Given the description of an element on the screen output the (x, y) to click on. 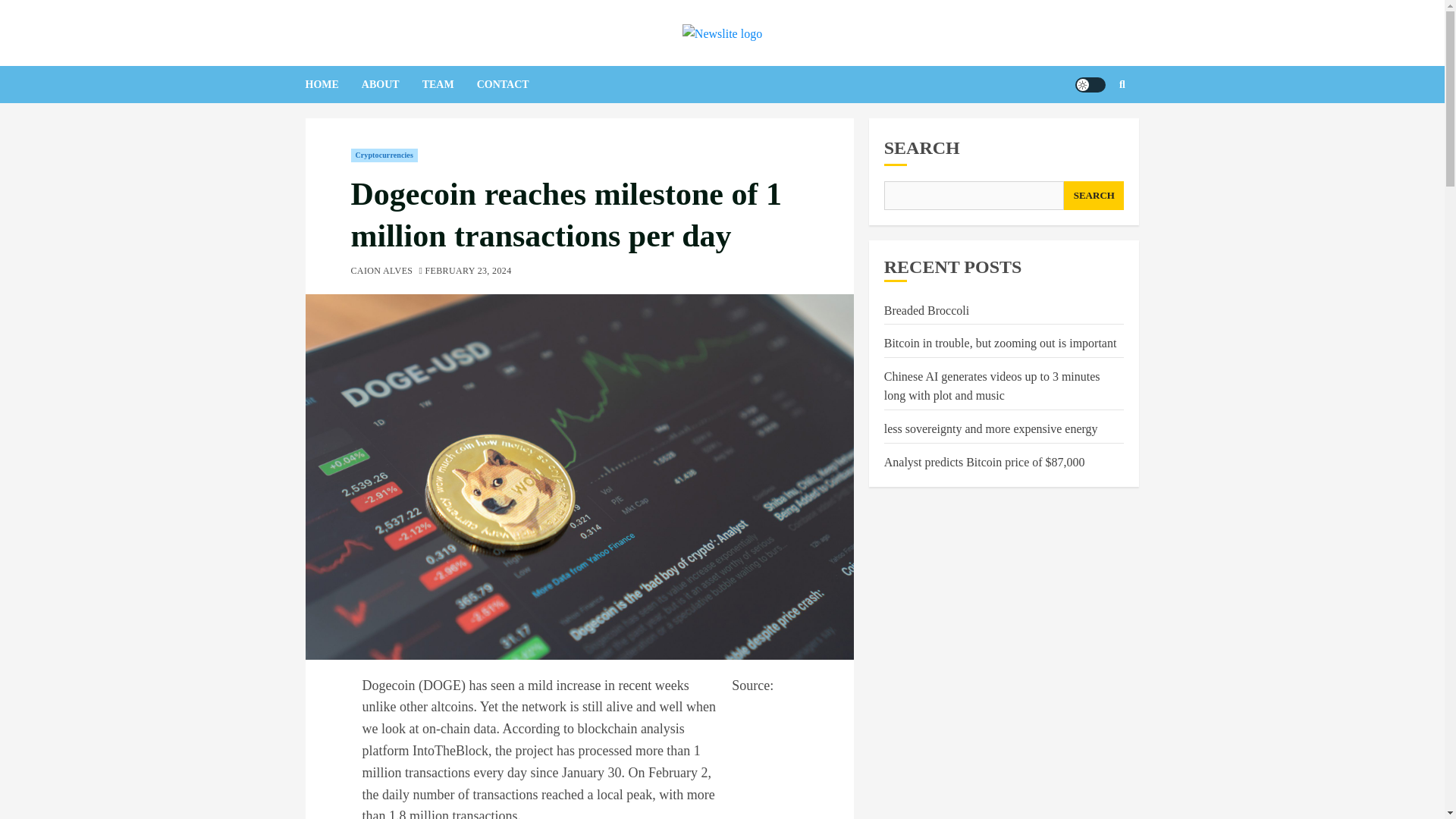
TEAM (449, 84)
Search (1092, 130)
less sovereignty and more expensive energy (990, 428)
SEARCH (1094, 194)
ABOUT (391, 84)
Cryptocurrencies (383, 155)
HOME (332, 84)
CAION ALVES (381, 271)
Breaded Broccoli (926, 310)
